Given the description of an element on the screen output the (x, y) to click on. 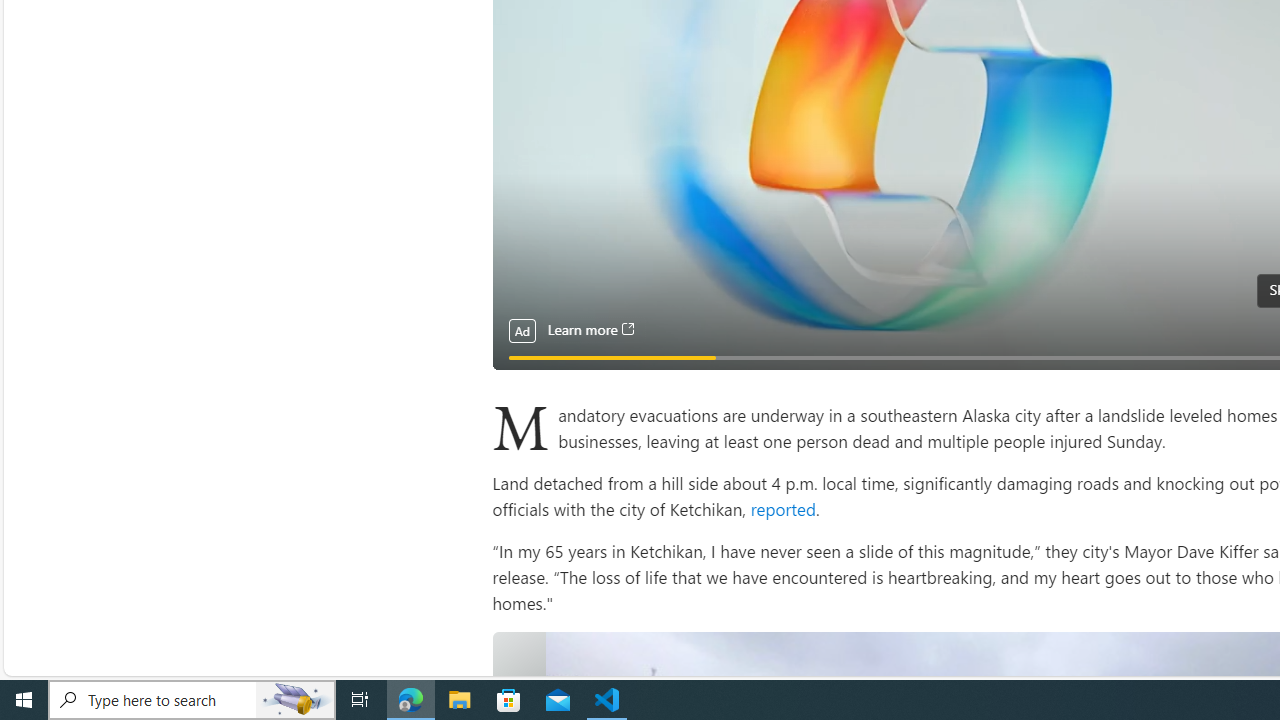
Captions (1257, 347)
Quality Settings (1218, 347)
Seek Forward (602, 347)
Pause (521, 347)
Seek Back (561, 347)
 reported (781, 507)
